Given the description of an element on the screen output the (x, y) to click on. 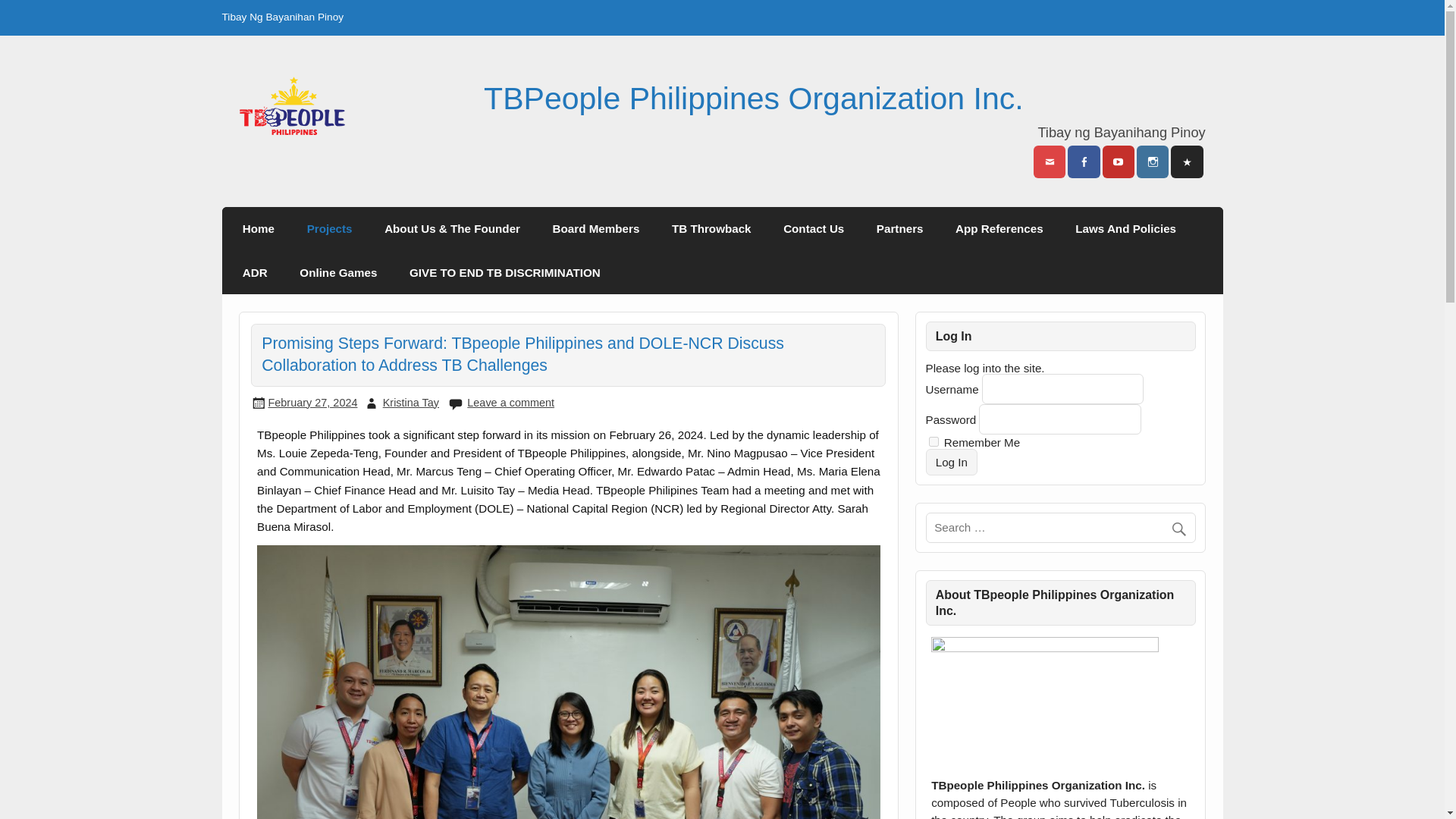
forever (933, 441)
App References (999, 228)
Home (259, 228)
Log In (952, 461)
ADR (255, 272)
Online Games (338, 272)
Board Members (595, 228)
Contact Us (813, 228)
February 27, 2024 (311, 402)
TBPeople Philippines Organization Inc. (753, 98)
